Given the description of an element on the screen output the (x, y) to click on. 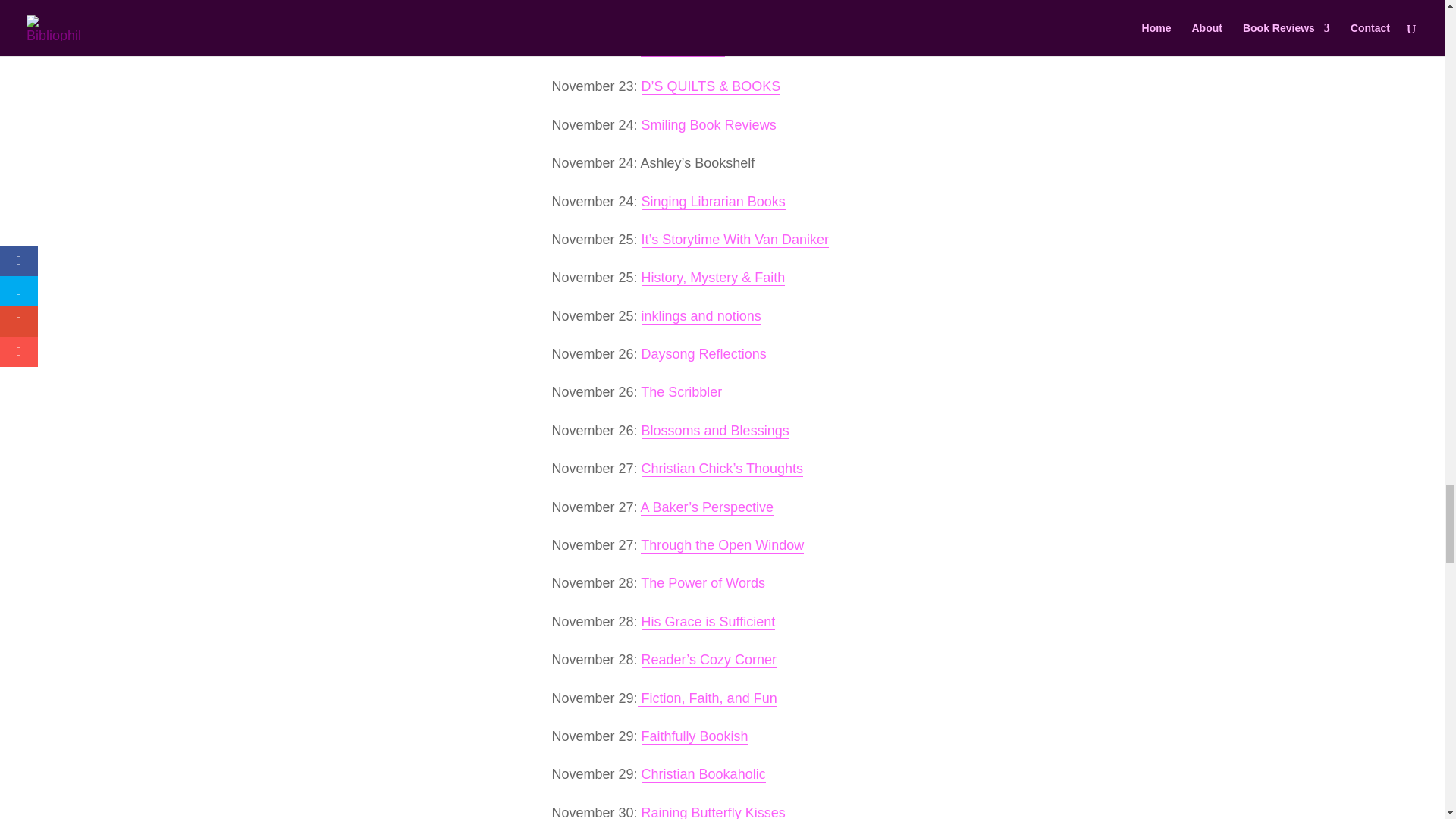
Just Commonly (688, 10)
Blossoms and Blessings (715, 430)
A Greater Yes (682, 48)
Daysong Reflections (704, 354)
inklings and notions (701, 316)
The Scribbler (681, 392)
Singing Librarian Books (714, 201)
Smiling Book Reviews (709, 125)
